Given the description of an element on the screen output the (x, y) to click on. 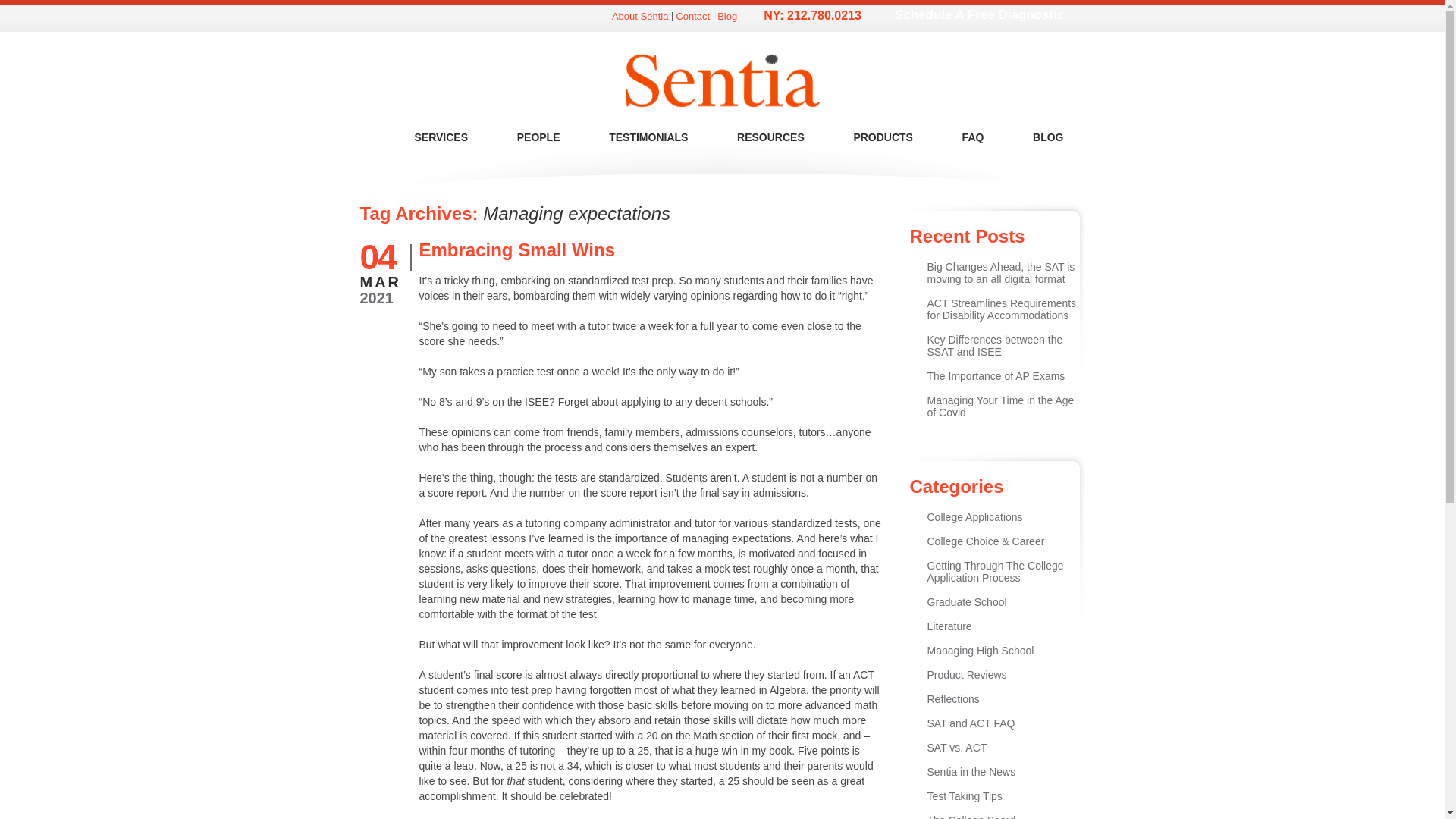
Key Differences between the SSAT and ISEE (994, 345)
SAT and ACT FAQ (970, 723)
Reflections (952, 698)
Managing High School (979, 650)
The College Board (970, 816)
Literature (948, 625)
Getting Through The College Application Process (994, 571)
facebook (389, 18)
TESTIMONIALS (631, 137)
Schedule A Free Diagnostic (969, 14)
Test Taking Tips (963, 796)
Managing Your Time in the Age of Covid (1000, 405)
twitter (368, 18)
The Importance of AP Exams (995, 376)
Product Reviews (966, 674)
